Given the description of an element on the screen output the (x, y) to click on. 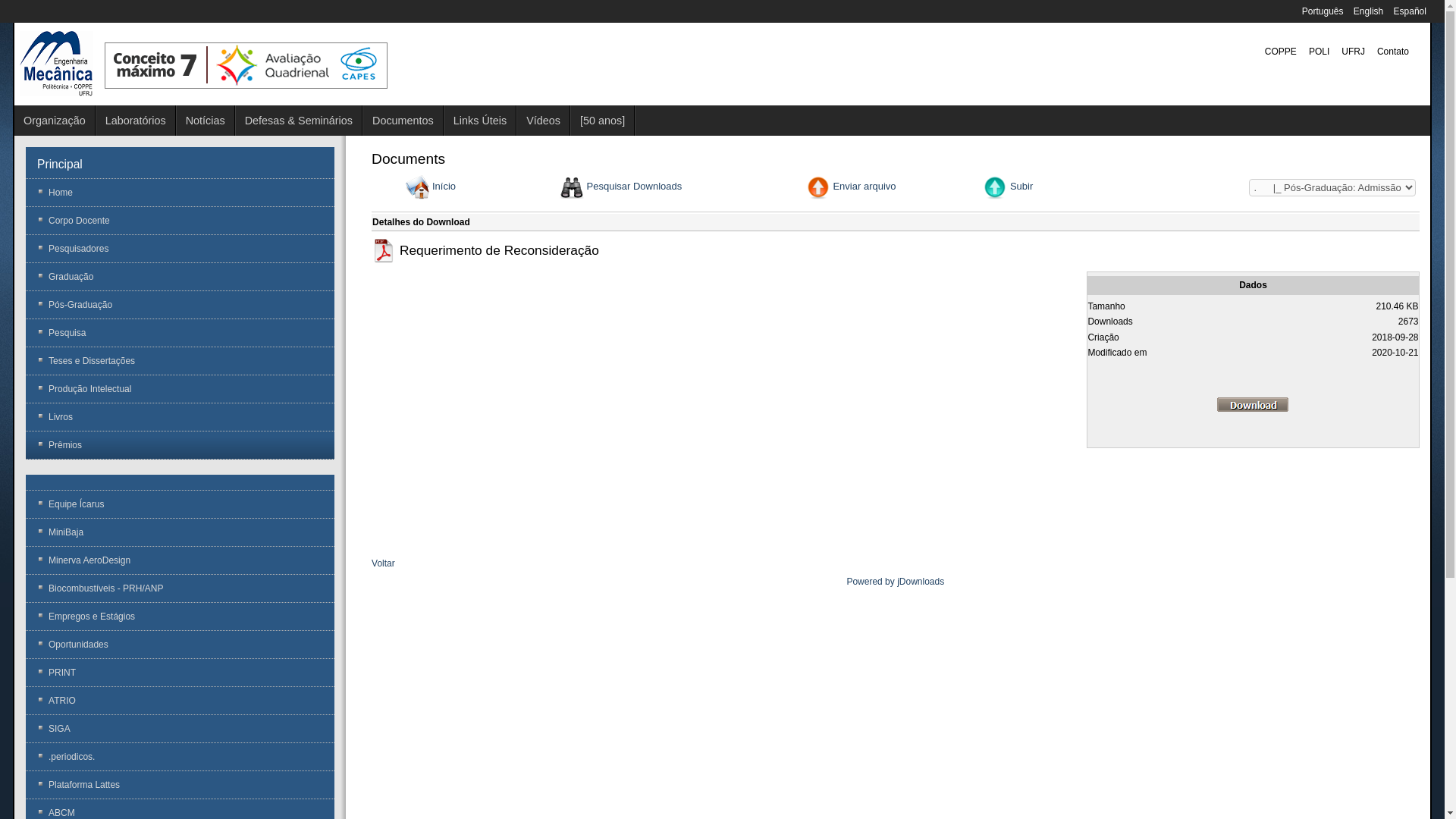
Plataforma Lattes Element type: text (179, 784)
MiniBaja Element type: text (179, 532)
jDownloads Element type: text (920, 581)
SIGA Element type: text (179, 728)
Enviar arquivo Element type: text (863, 186)
Corpo Docente Element type: text (179, 220)
Pesquisar Downloads Element type: text (634, 186)
Minerva AeroDesign Element type: text (179, 560)
POLI Element type: text (1318, 51)
Subir Element type: text (1021, 186)
English Element type: text (1369, 11)
[50 anos] Element type: text (602, 120)
COPPE Element type: text (1280, 51)
Livros Element type: text (179, 416)
ATRIO Element type: text (179, 700)
Contato Element type: text (1392, 51)
Pesquisadores Element type: text (179, 248)
PRINT Element type: text (179, 672)
Pesquisa Element type: text (179, 332)
UFRJ Element type: text (1353, 51)
Oportunidades Element type: text (179, 644)
Powered by  Element type: text (871, 581)
Voltar Element type: text (383, 563)
Home Element type: text (179, 192)
.periodicos. Element type: text (179, 756)
Documentos Element type: text (403, 120)
